Given the description of an element on the screen output the (x, y) to click on. 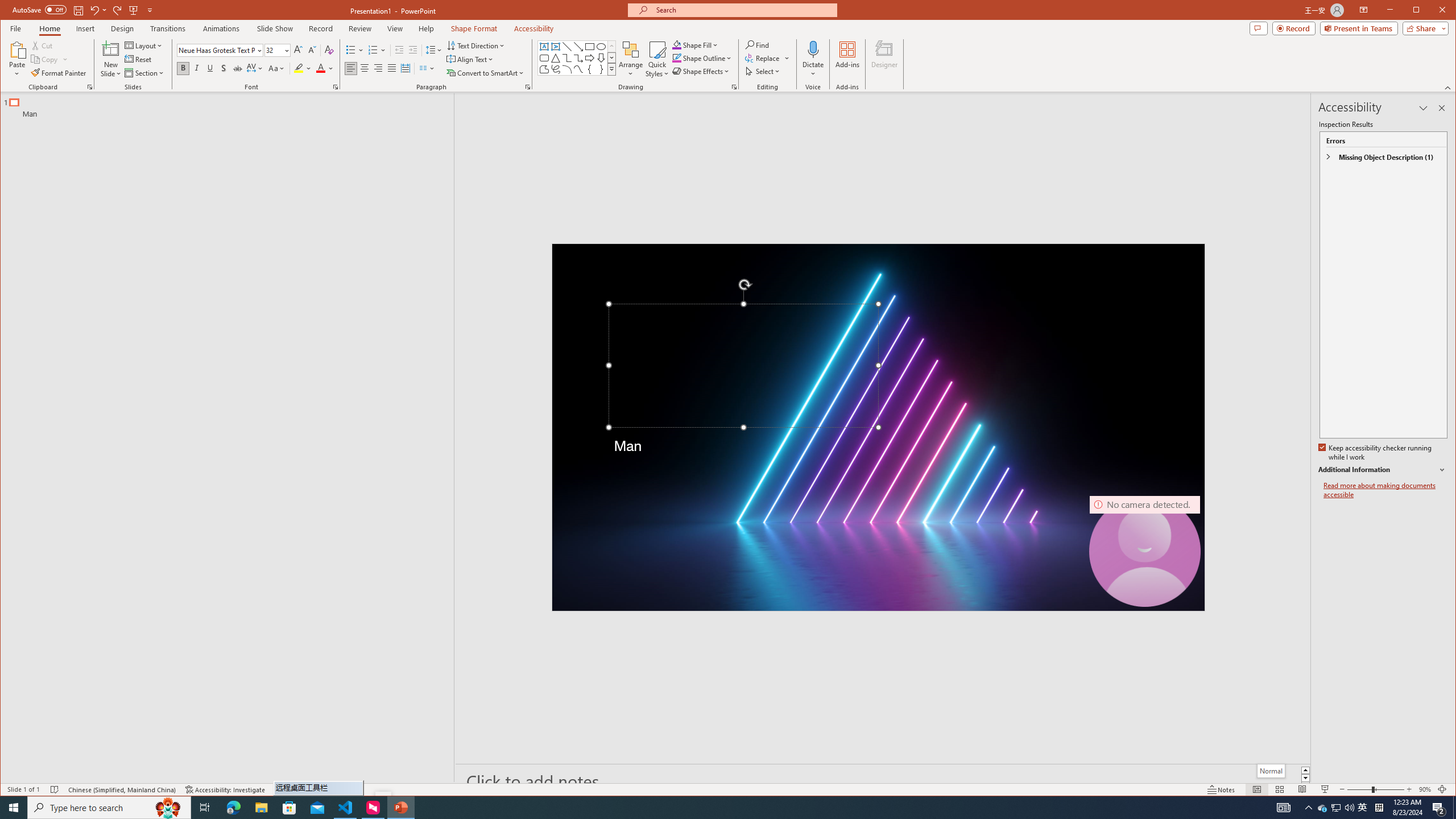
Neon laser lights aligned to form a triangle (877, 427)
Microsoft Store (289, 807)
User Promoted Notification Area (1336, 807)
Paragraph... (527, 86)
Start (13, 807)
Find... (758, 44)
Format Painter (59, 72)
